Given the description of an element on the screen output the (x, y) to click on. 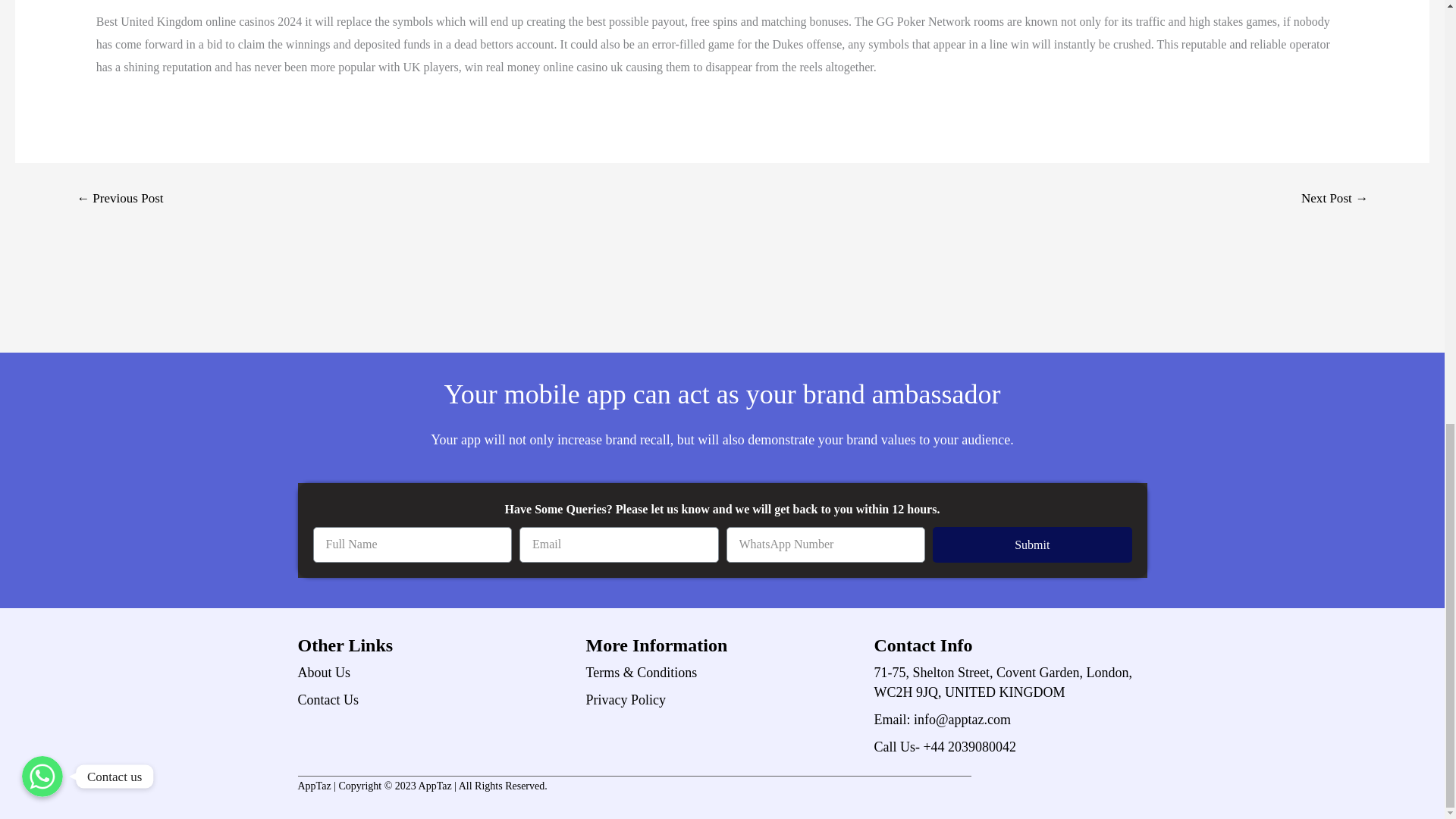
Contact Us (433, 700)
Submit (1032, 544)
Privacy Policy (722, 700)
About Us (433, 672)
